Given the description of an element on the screen output the (x, y) to click on. 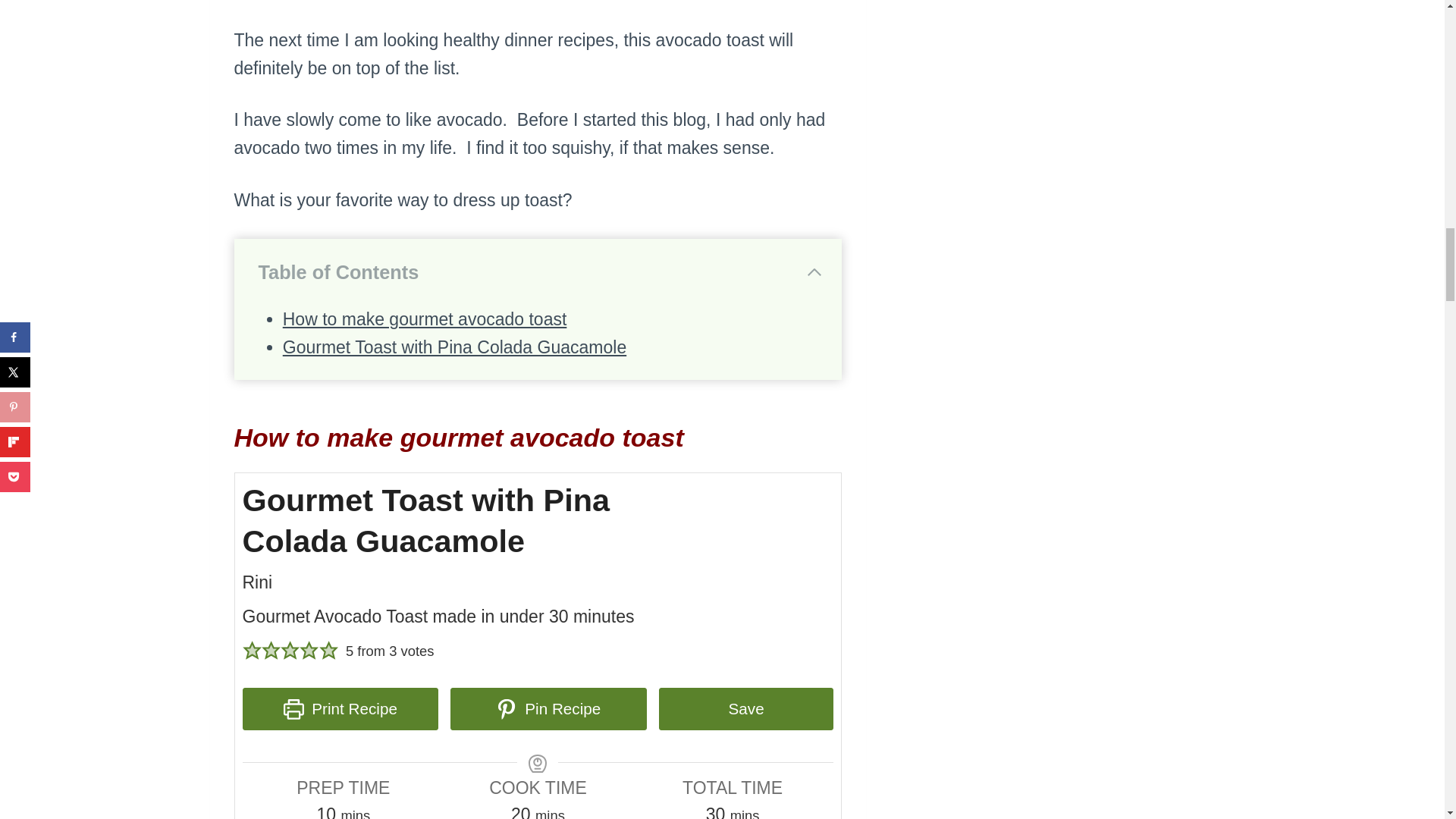
How to make gourmet avocado toast (424, 319)
Table of Contents (540, 272)
